Given the description of an element on the screen output the (x, y) to click on. 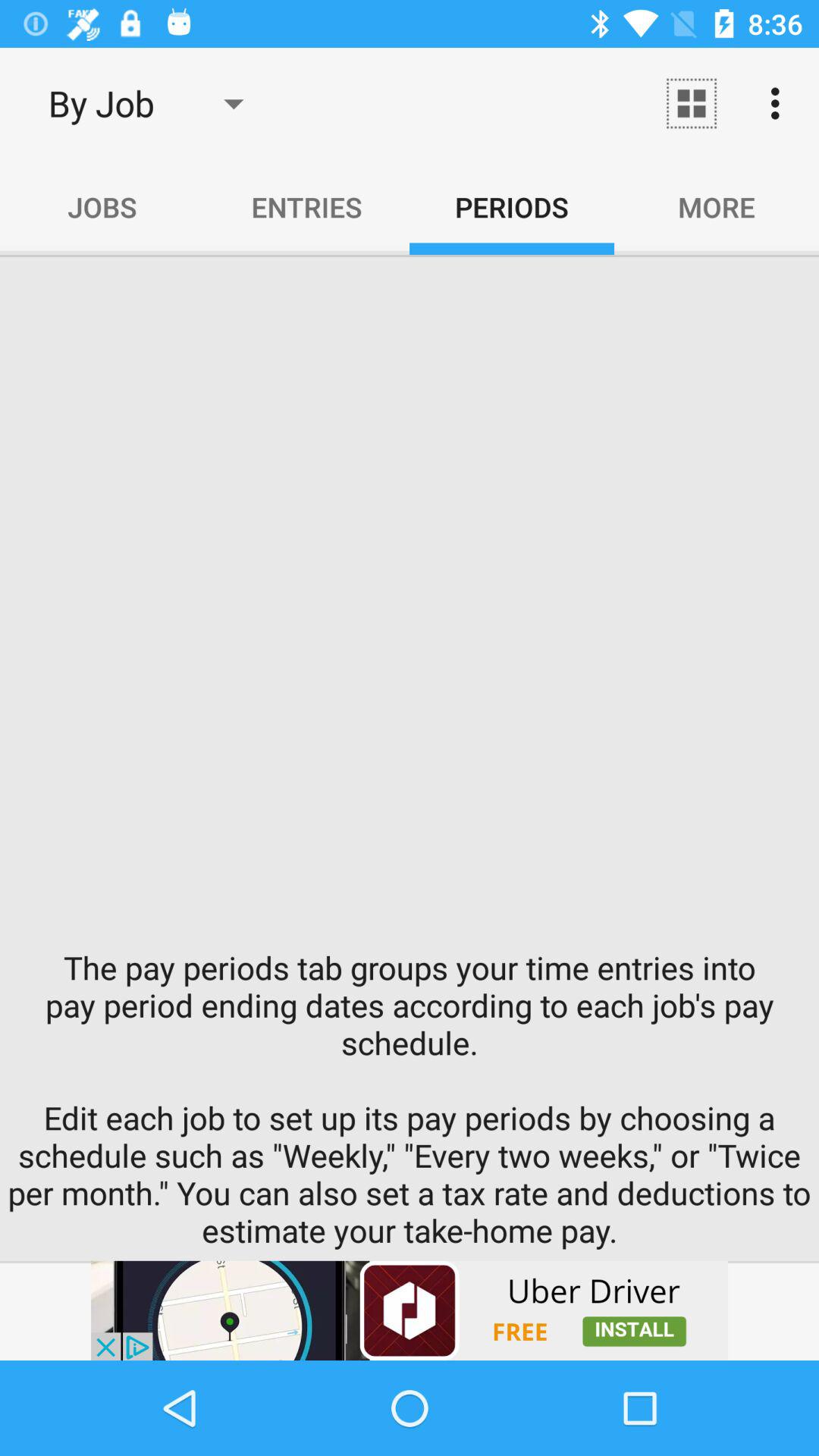
advertisement page (409, 1310)
